Given the description of an element on the screen output the (x, y) to click on. 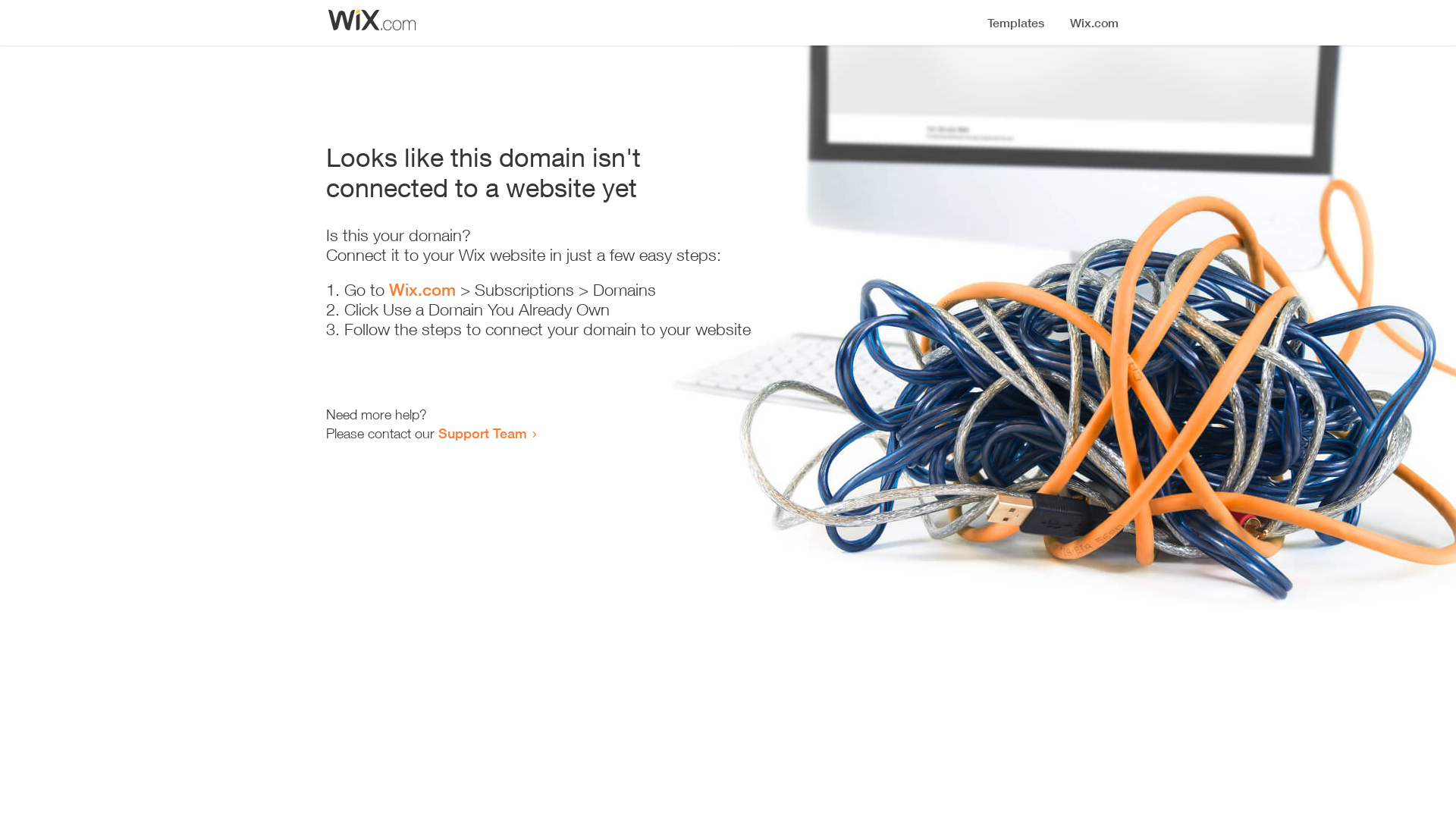
Wix.com Element type: text (422, 289)
Support Team Element type: text (482, 432)
